Given the description of an element on the screen output the (x, y) to click on. 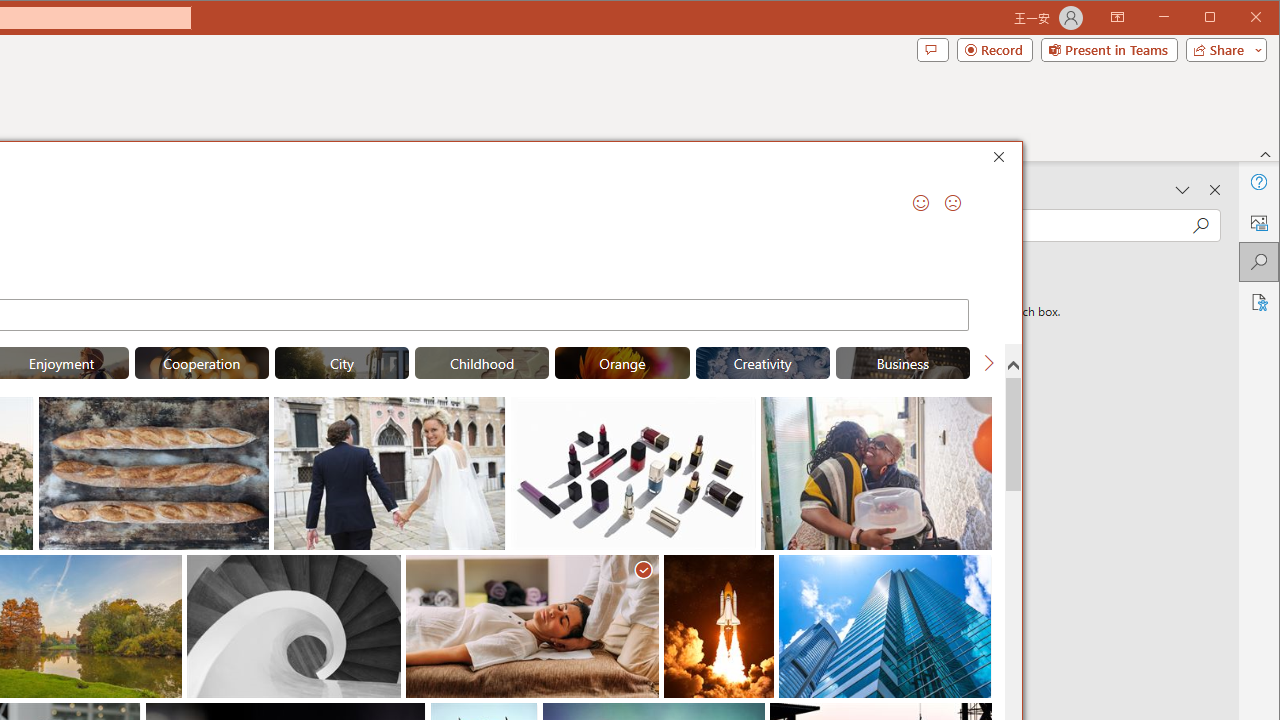
"Creativity" Stock Images. (762, 362)
"Childhood" Stock Images. (481, 362)
Send a Frown (952, 202)
